Given the description of an element on the screen output the (x, y) to click on. 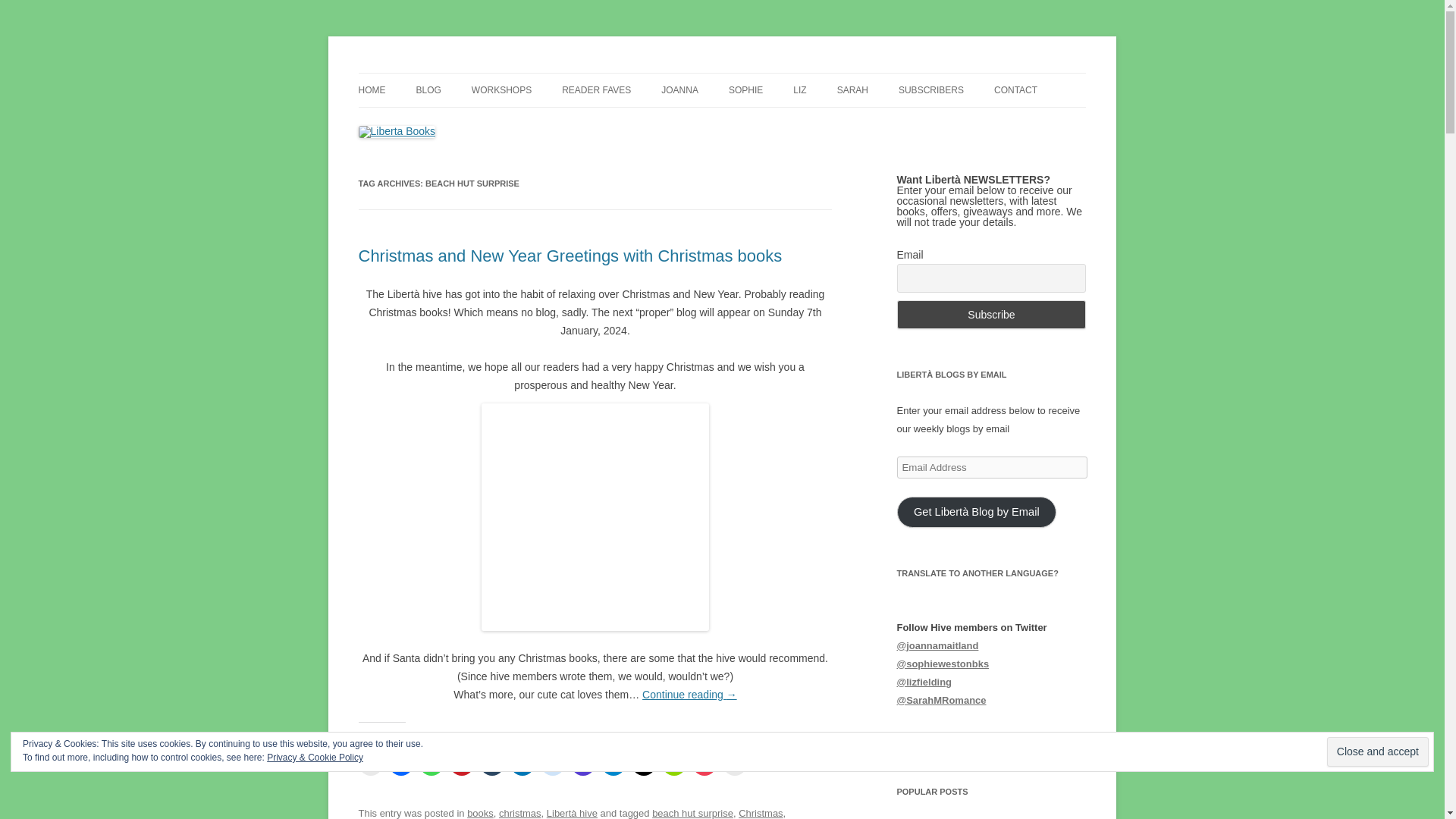
Liberta Books (423, 72)
Christmas and New Year Greetings with Christmas books (569, 255)
SOPHIE (745, 90)
Click to share on WhatsApp (430, 763)
READER FAVES (596, 90)
JOANNA (679, 90)
Click to share on Nextdoor (673, 763)
Click to share on Pocket (703, 763)
Close and accept (1377, 751)
